Given the description of an element on the screen output the (x, y) to click on. 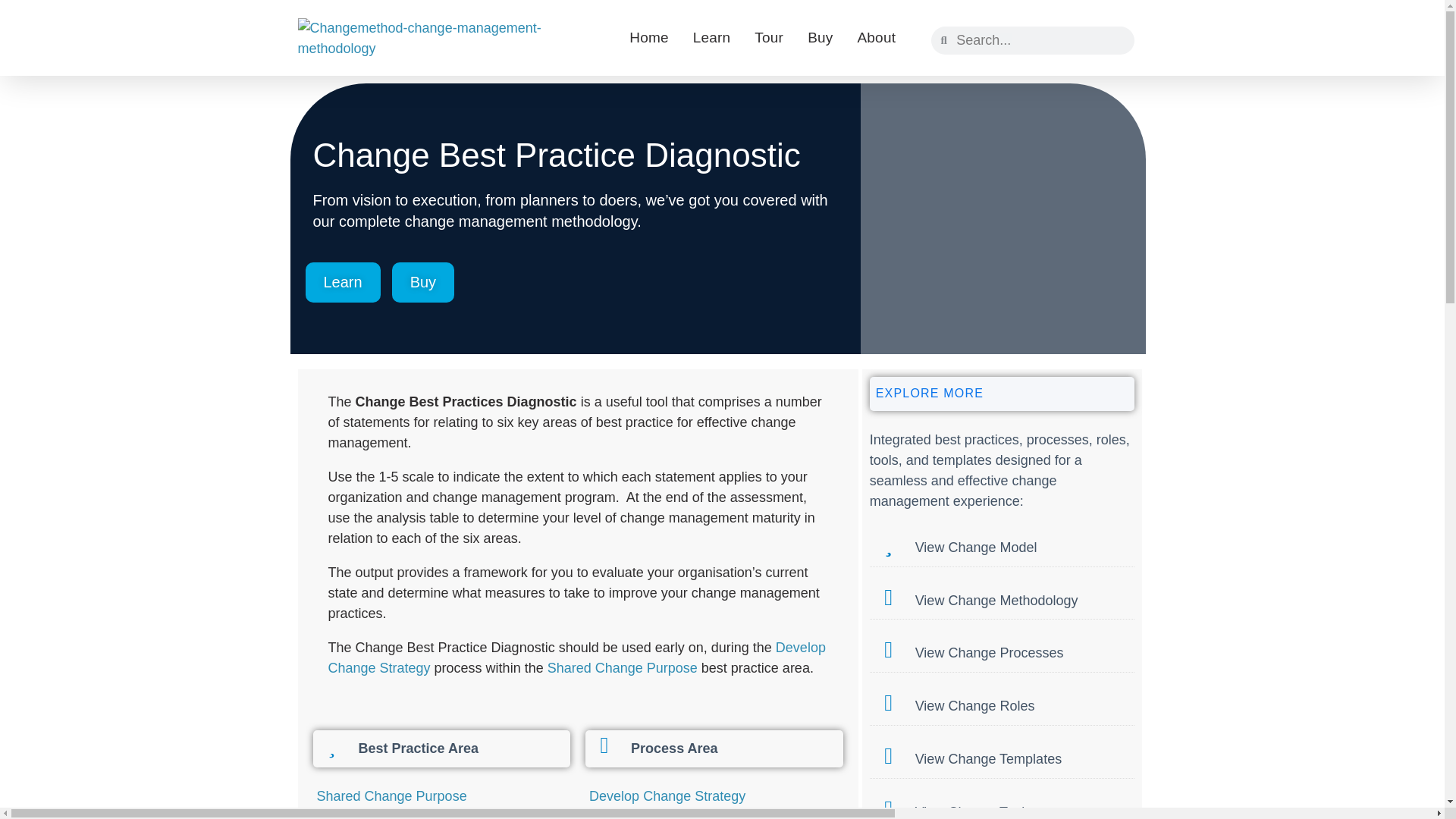
Learn (711, 38)
View Change Templates (988, 758)
Develop Change Strategy (576, 657)
View Change Model (975, 547)
Develop Change Strategy (667, 795)
View Change Tools (972, 811)
Shared Change Purpose (392, 795)
Tour (768, 38)
About (876, 38)
Shared Change Purpose (622, 667)
